Given the description of an element on the screen output the (x, y) to click on. 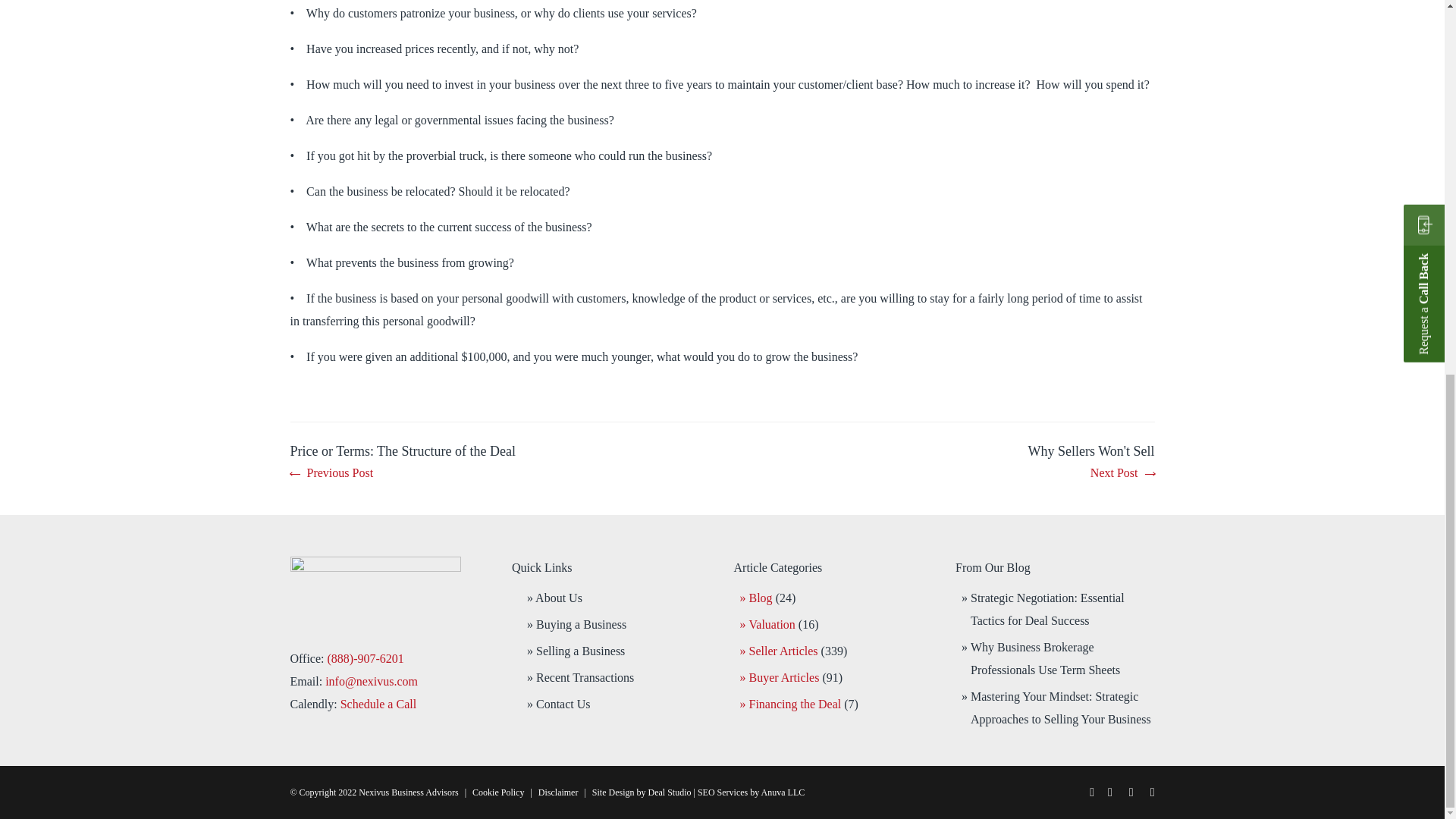
Why Sellers Won't Sell (1090, 463)
View all posts filed under Financing the Deal (795, 703)
View all posts filed under Blog (761, 597)
Price or Terms: The Structure of the Deal (402, 463)
View all posts filed under Seller Articles (783, 650)
View all posts filed under Buyer Articles (784, 676)
View all posts filed under Valuation (771, 624)
